Given the description of an element on the screen output the (x, y) to click on. 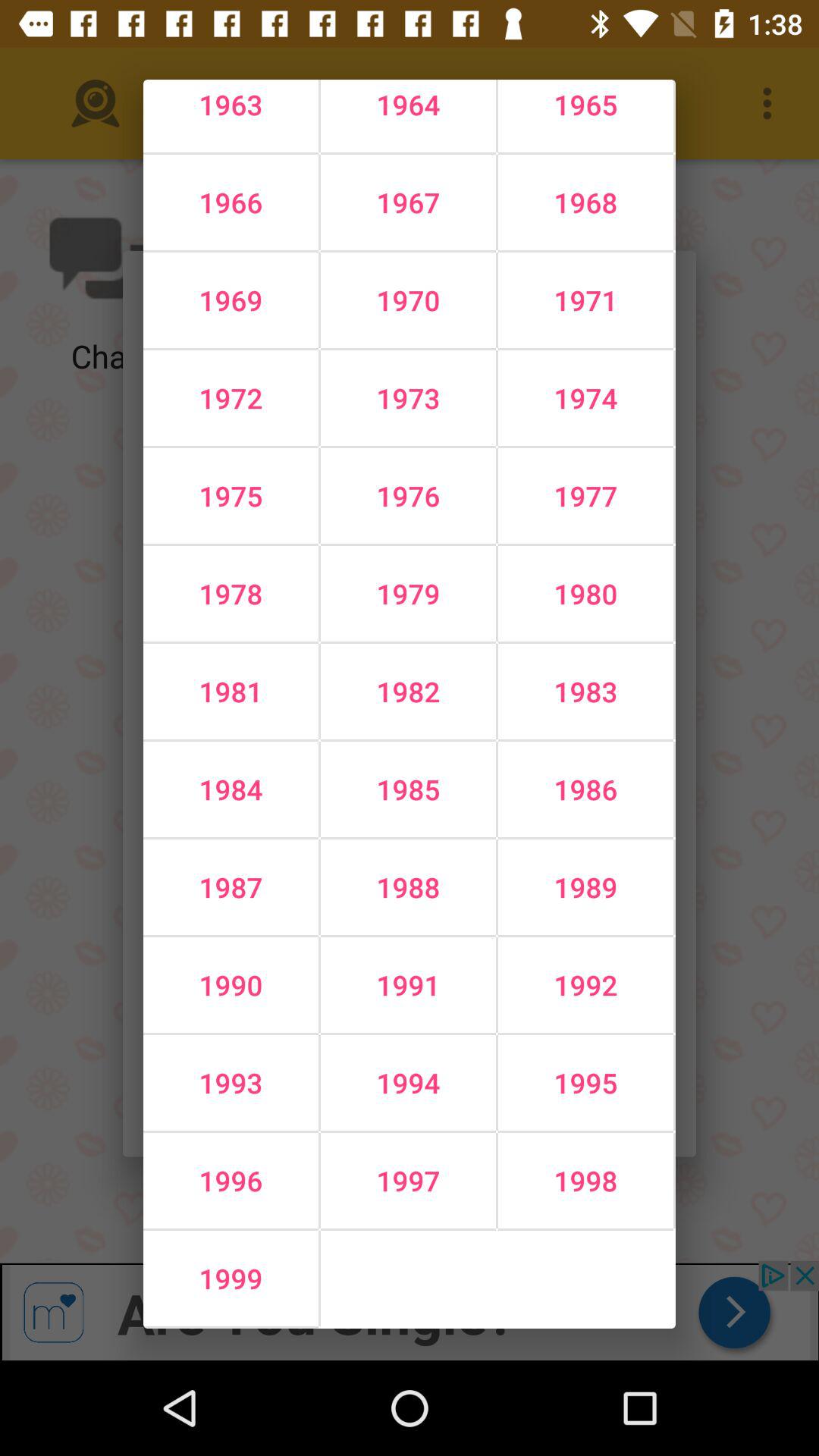
choose the 1995 icon (585, 1082)
